Given the description of an element on the screen output the (x, y) to click on. 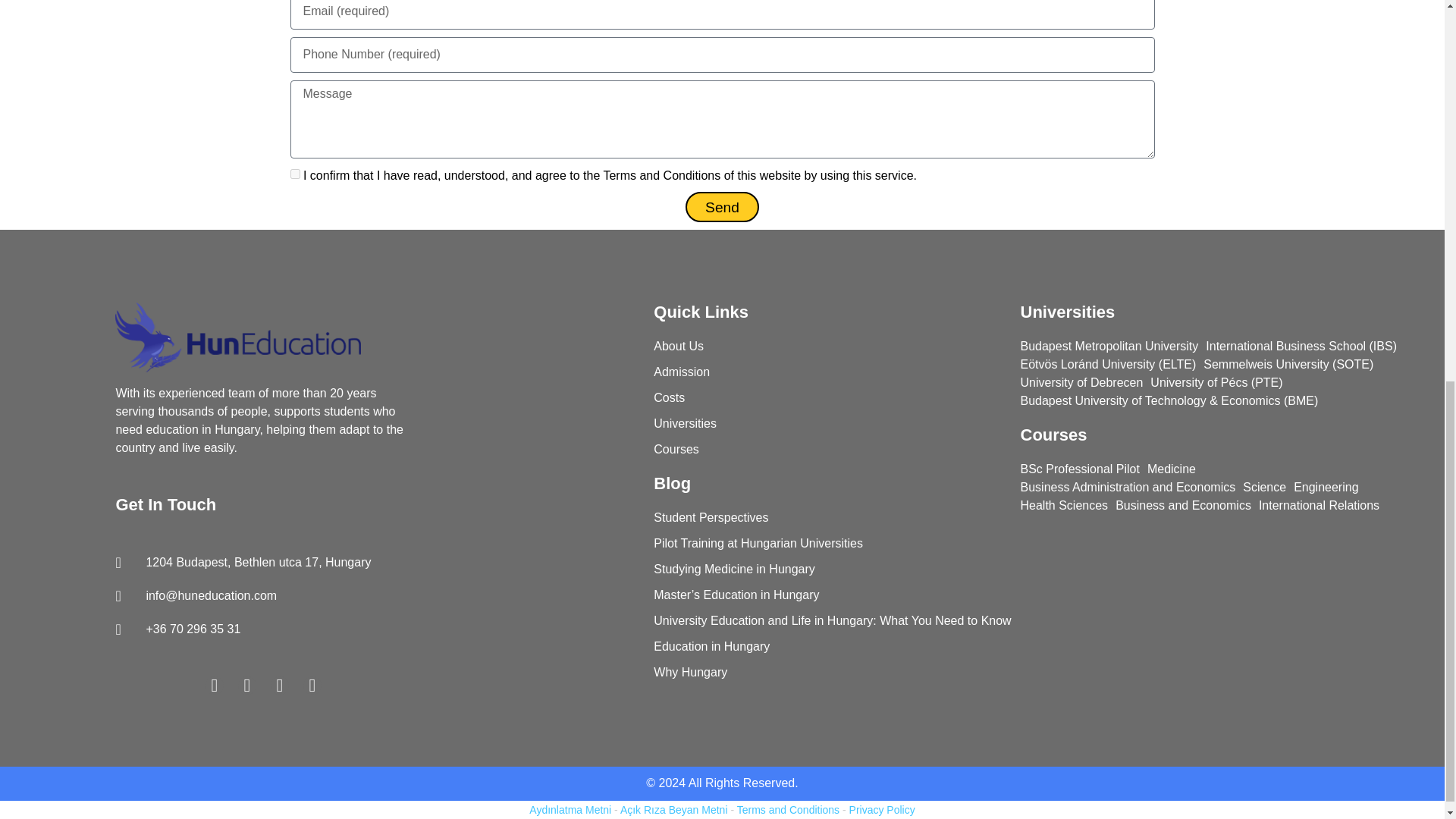
1204 Budapest, Bethlen utca 17, Hungary (262, 562)
Send (721, 206)
on (294, 173)
Get In Touch (165, 504)
